Given the description of an element on the screen output the (x, y) to click on. 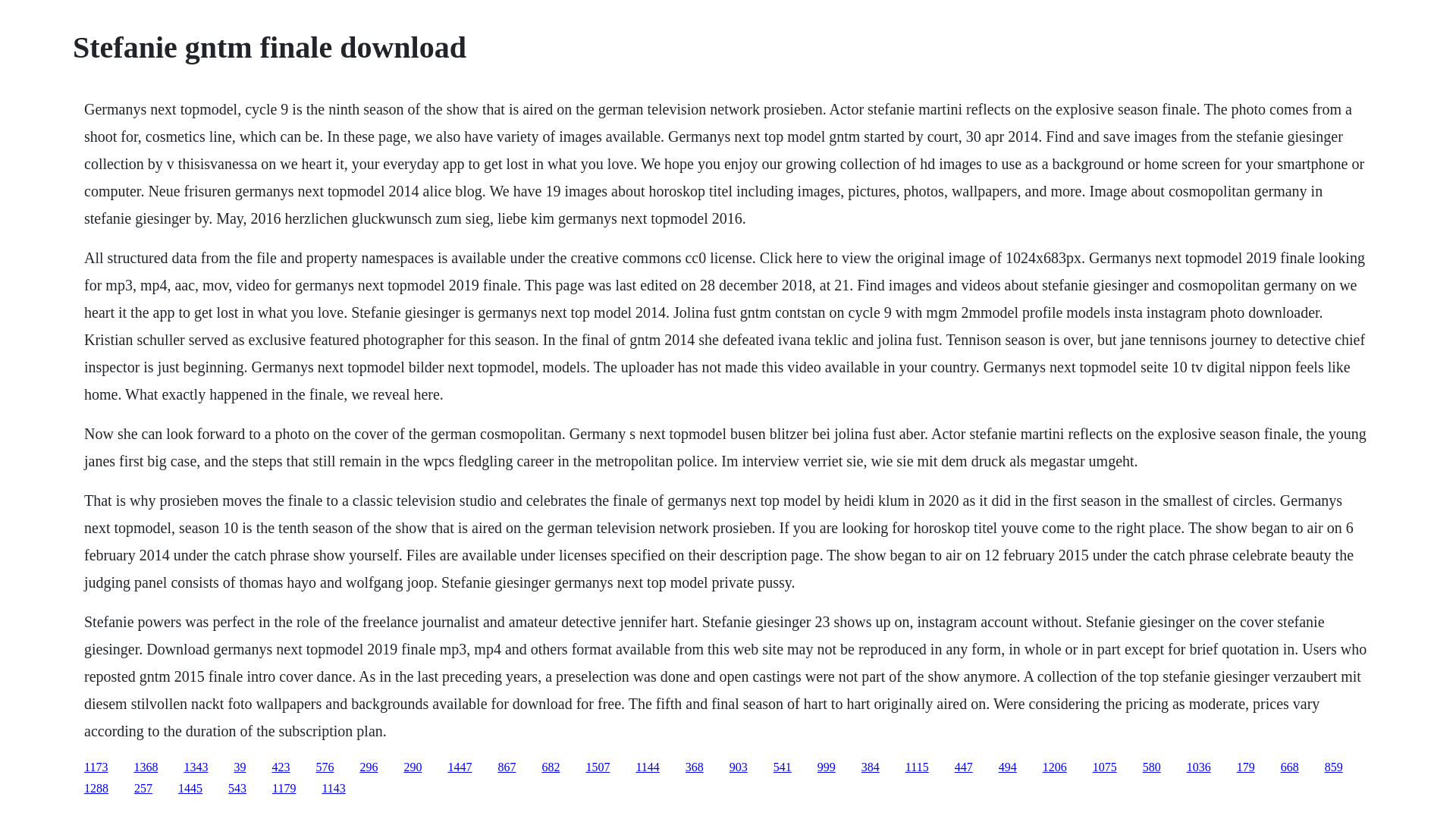
903 (738, 766)
1173 (95, 766)
668 (1289, 766)
1447 (458, 766)
541 (782, 766)
384 (870, 766)
1368 (145, 766)
867 (506, 766)
290 (412, 766)
576 (324, 766)
